Given the description of an element on the screen output the (x, y) to click on. 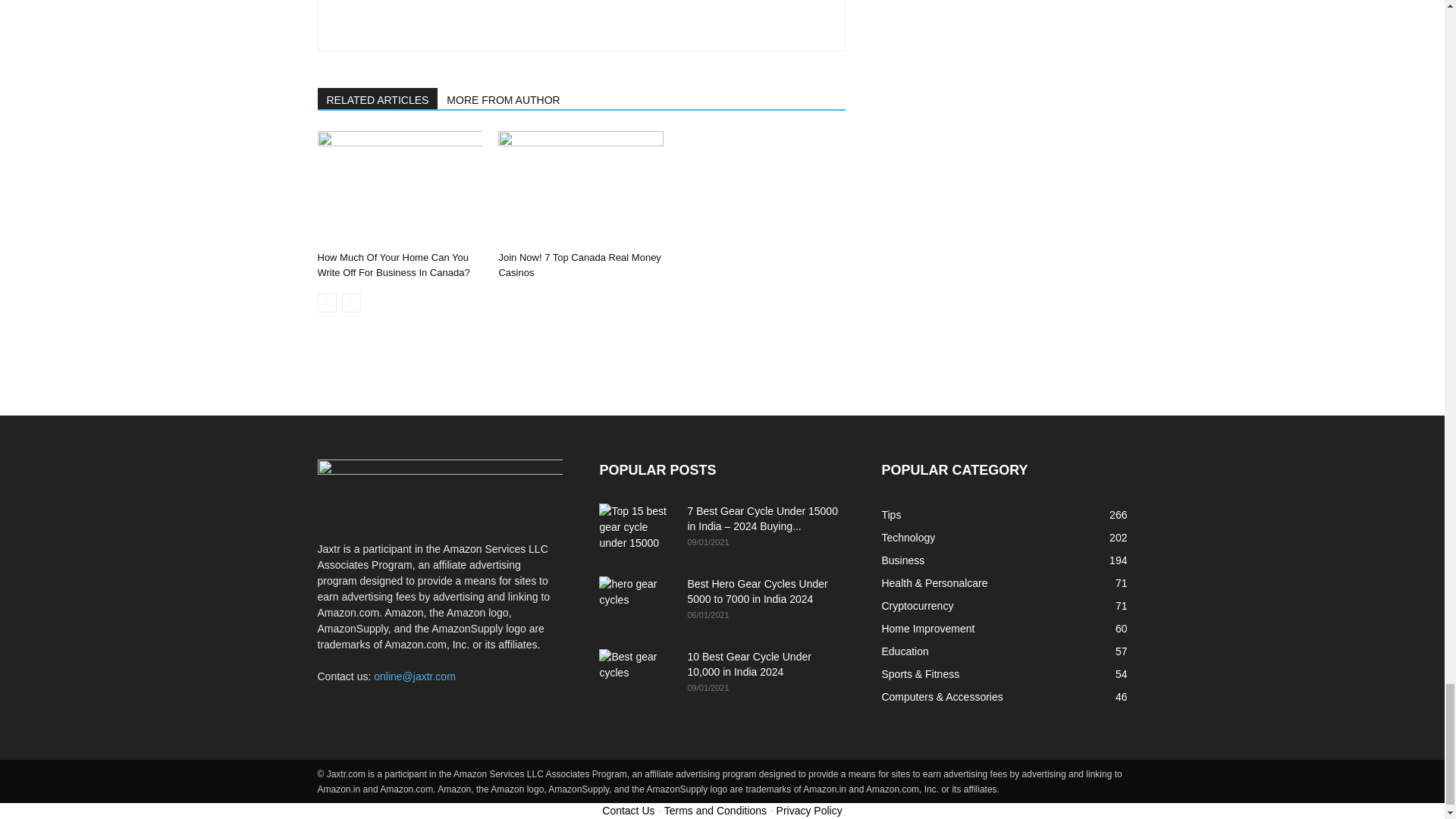
Join Now! 7 Top Canada Real Money Casinos (580, 187)
